Given the description of an element on the screen output the (x, y) to click on. 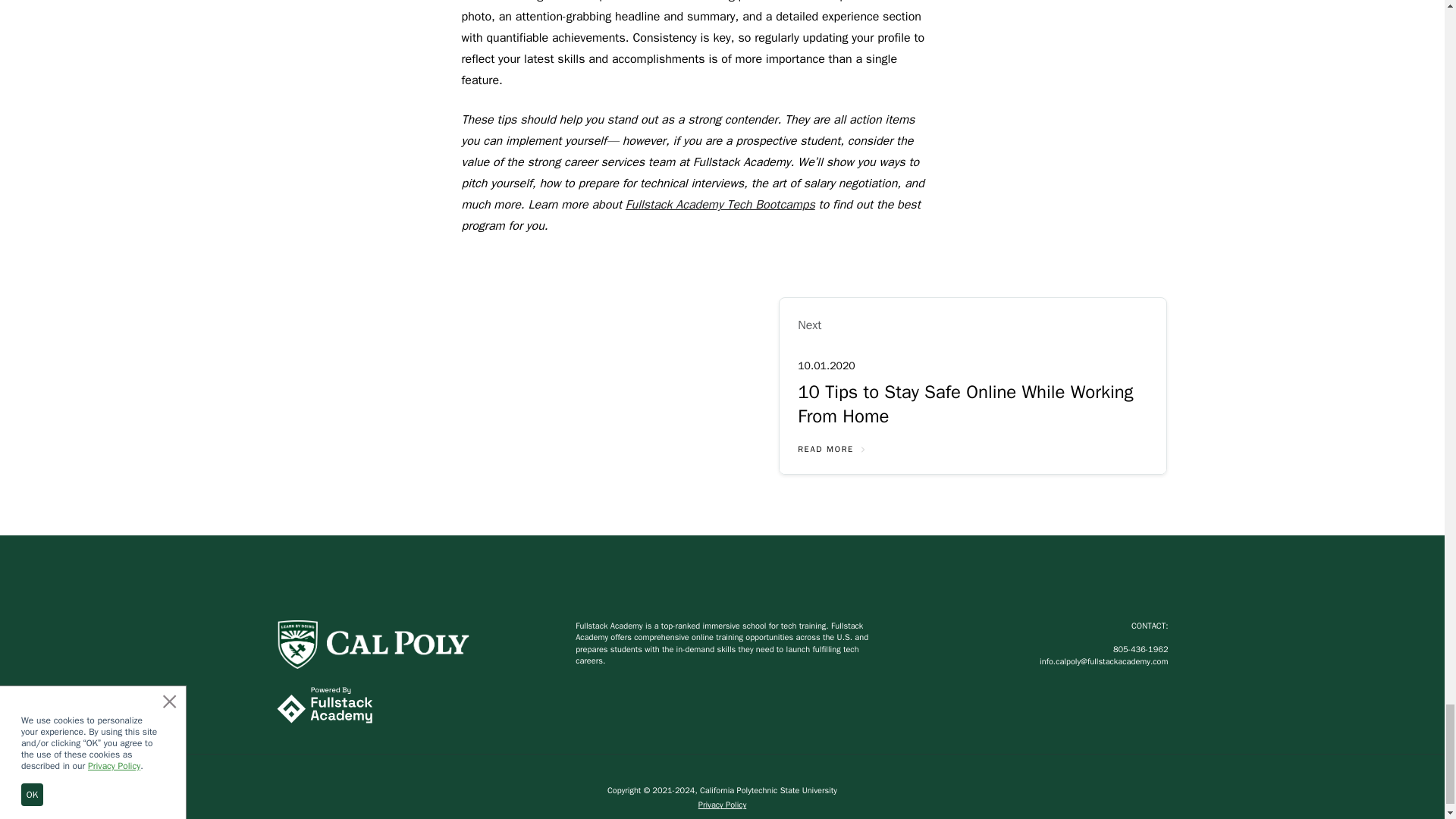
805-436-1962 (1141, 648)
Privacy Policy (722, 805)
Fullstack Academy Tech Bootcamps (720, 204)
